Given the description of an element on the screen output the (x, y) to click on. 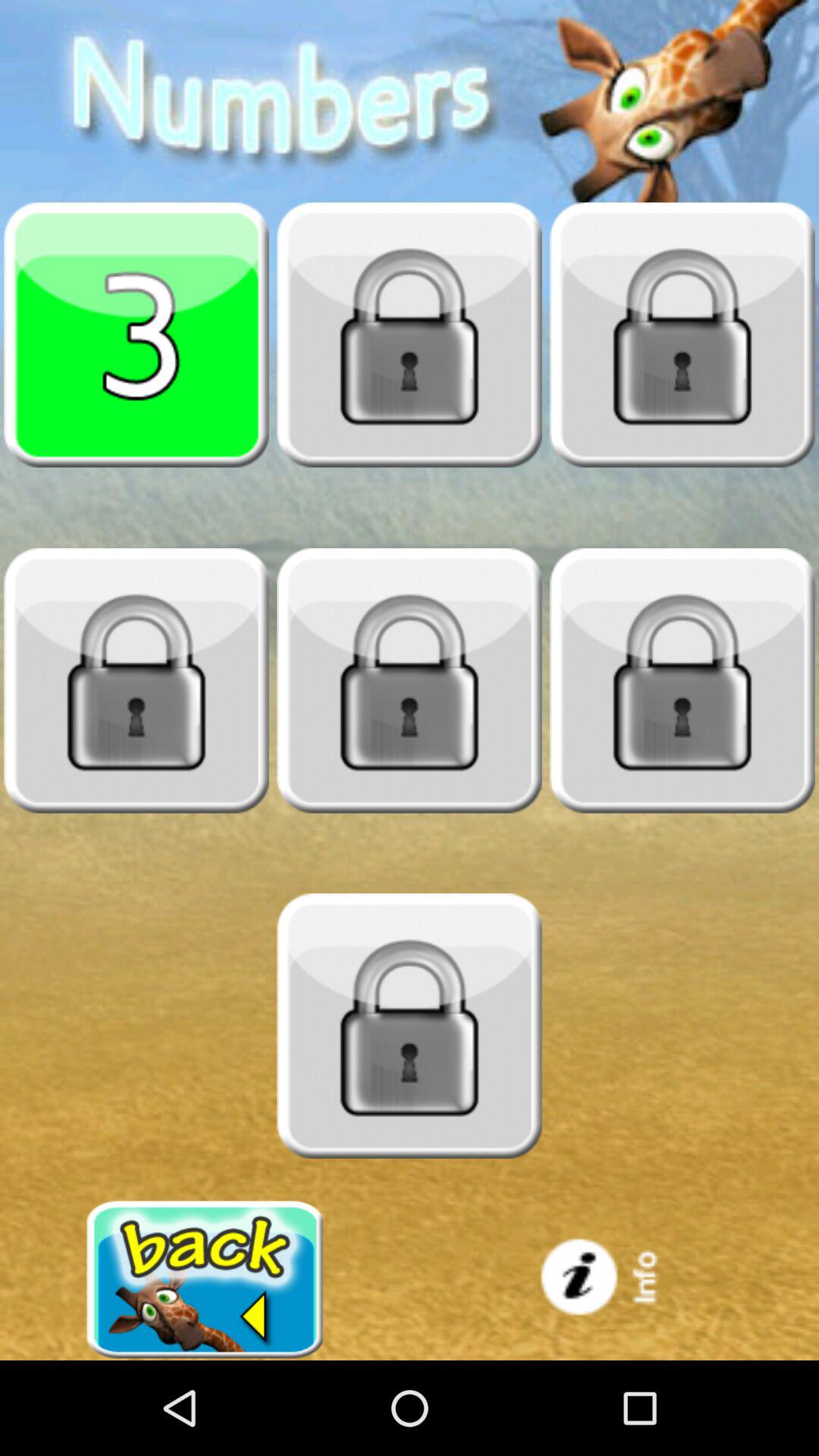
unlock (136, 680)
